Given the description of an element on the screen output the (x, y) to click on. 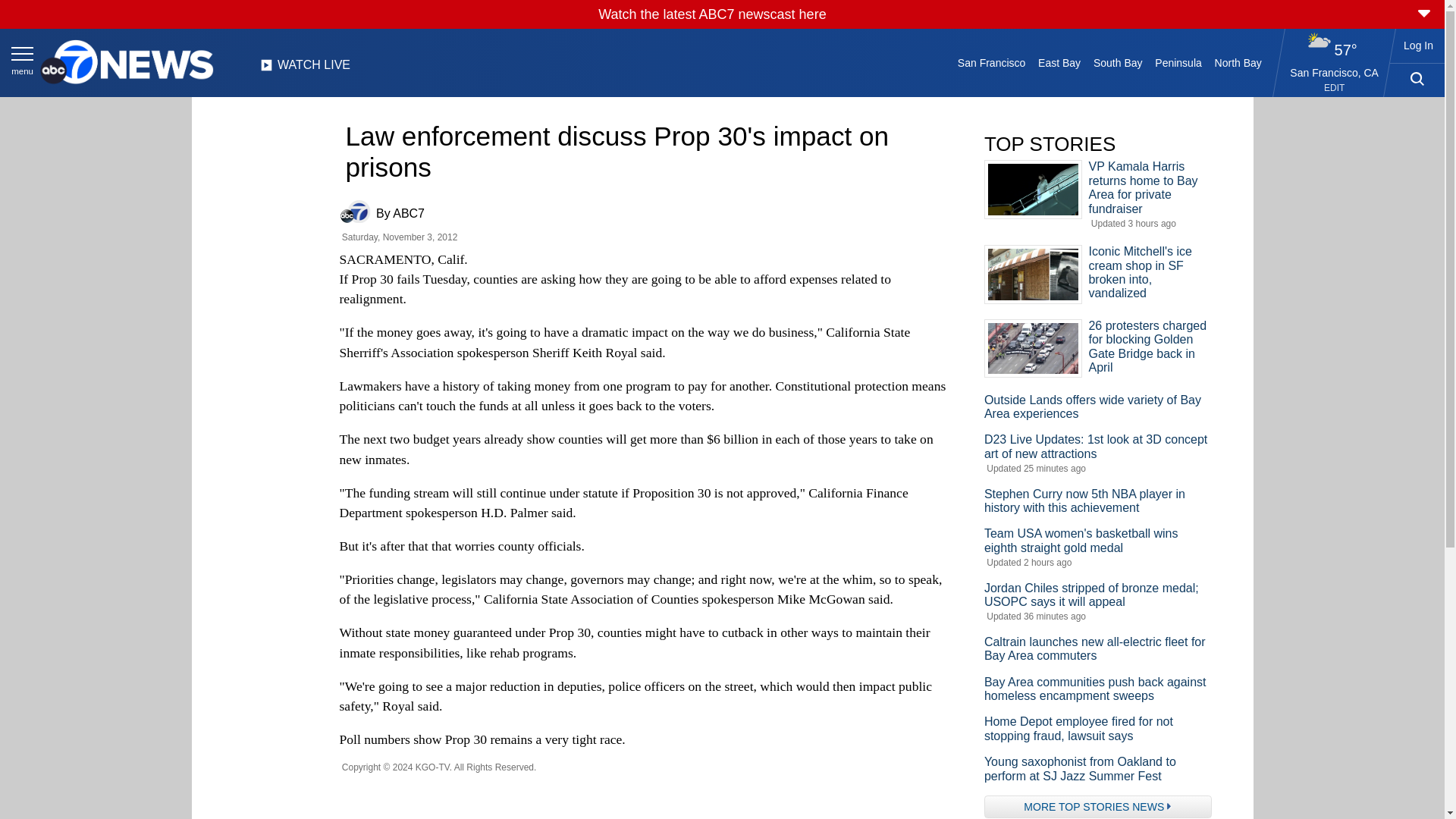
EDIT (1333, 87)
North Bay (1238, 62)
San Francisco (990, 62)
East Bay (1059, 62)
San Francisco, CA (1334, 72)
South Bay (1117, 62)
WATCH LIVE (305, 69)
Peninsula (1178, 62)
